Given the description of an element on the screen output the (x, y) to click on. 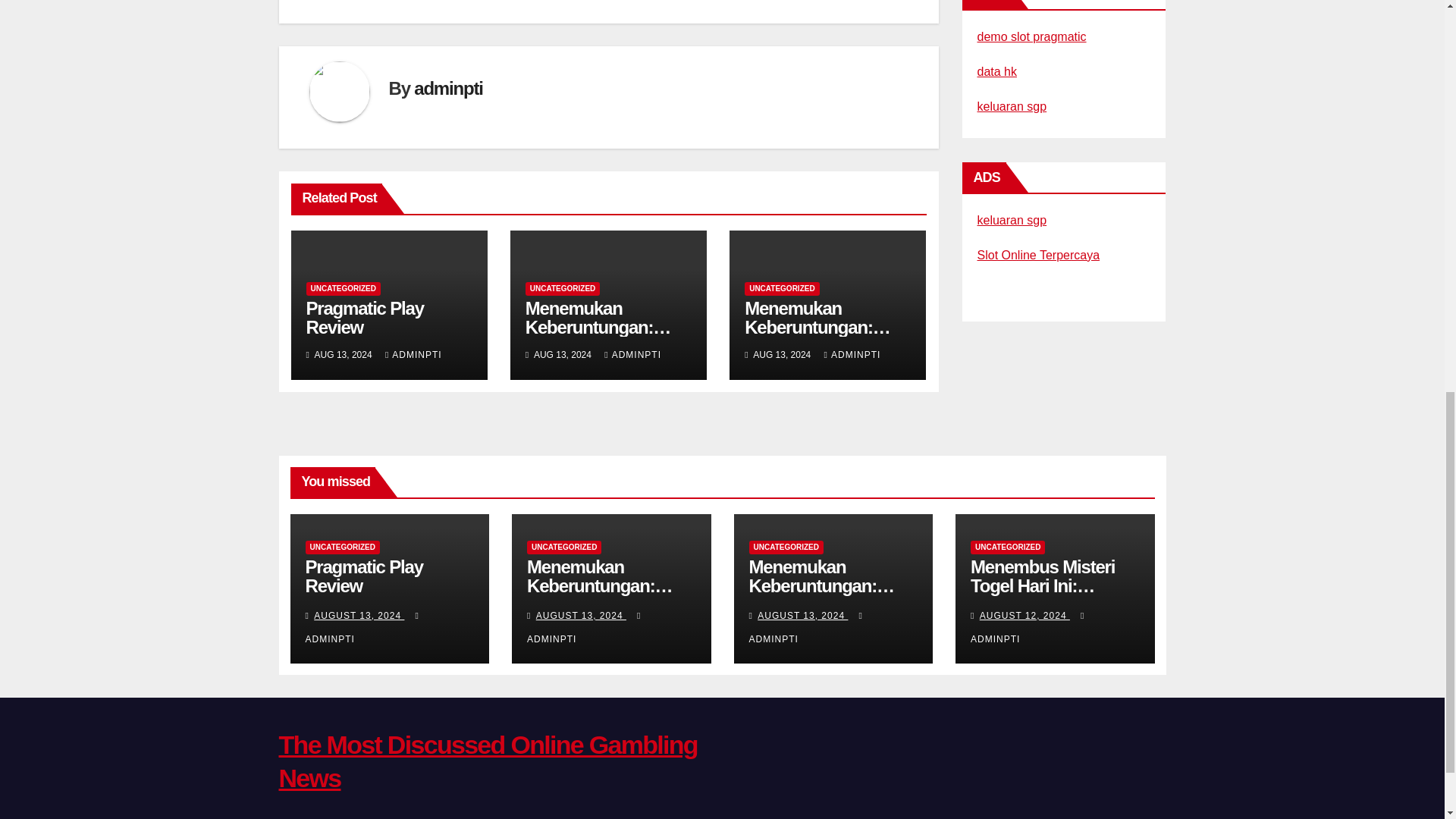
Permalink to: Pragmatic Play Review (364, 317)
UNCATEGORIZED (342, 288)
UNCATEGORIZED (781, 288)
Pragmatic Play Review (364, 317)
UNCATEGORIZED (562, 288)
ADMINPTI (852, 354)
